Given the description of an element on the screen output the (x, y) to click on. 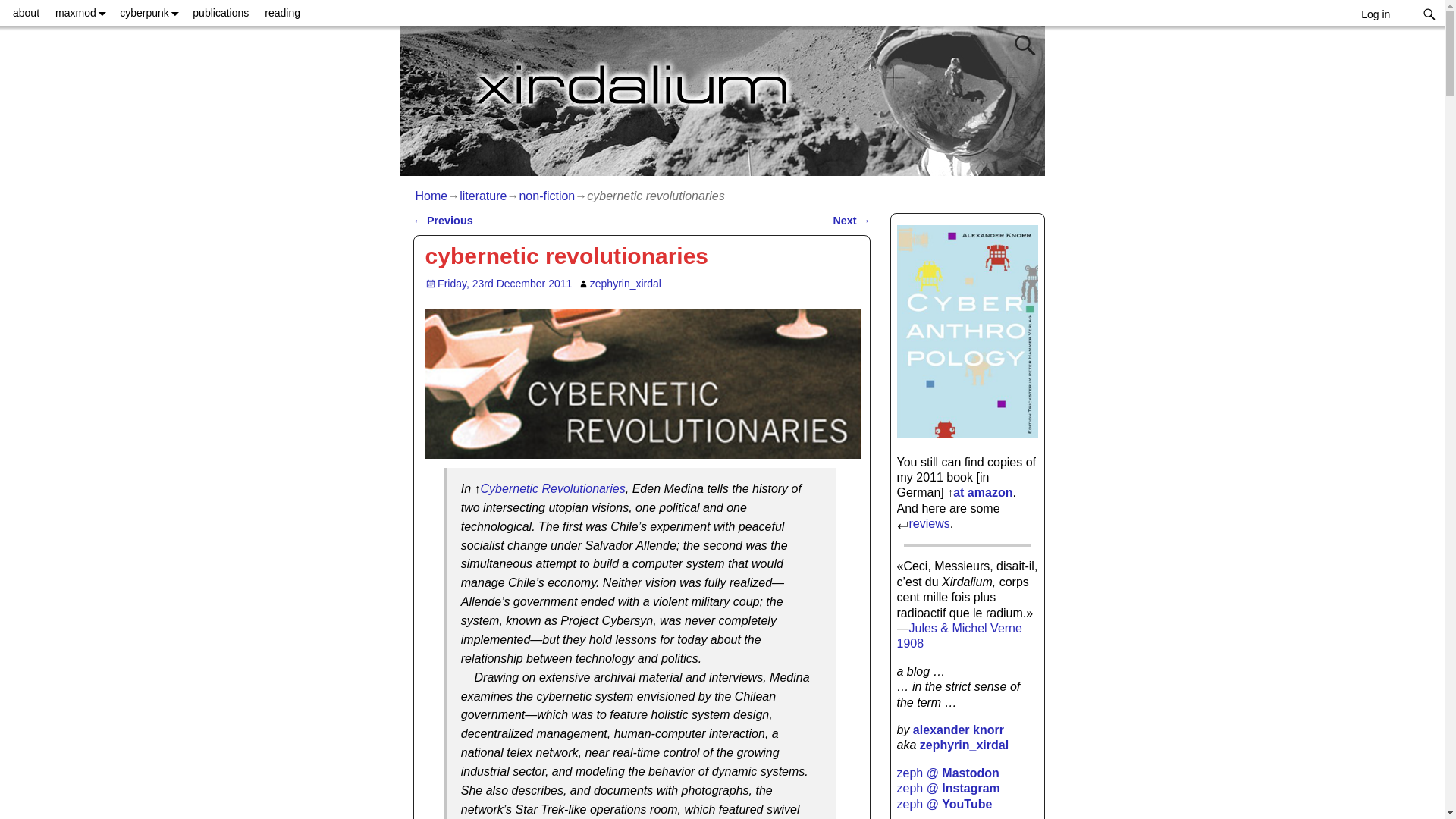
maxmod (80, 12)
Log in (1375, 14)
maxmod (80, 12)
about (25, 12)
